Given the description of an element on the screen output the (x, y) to click on. 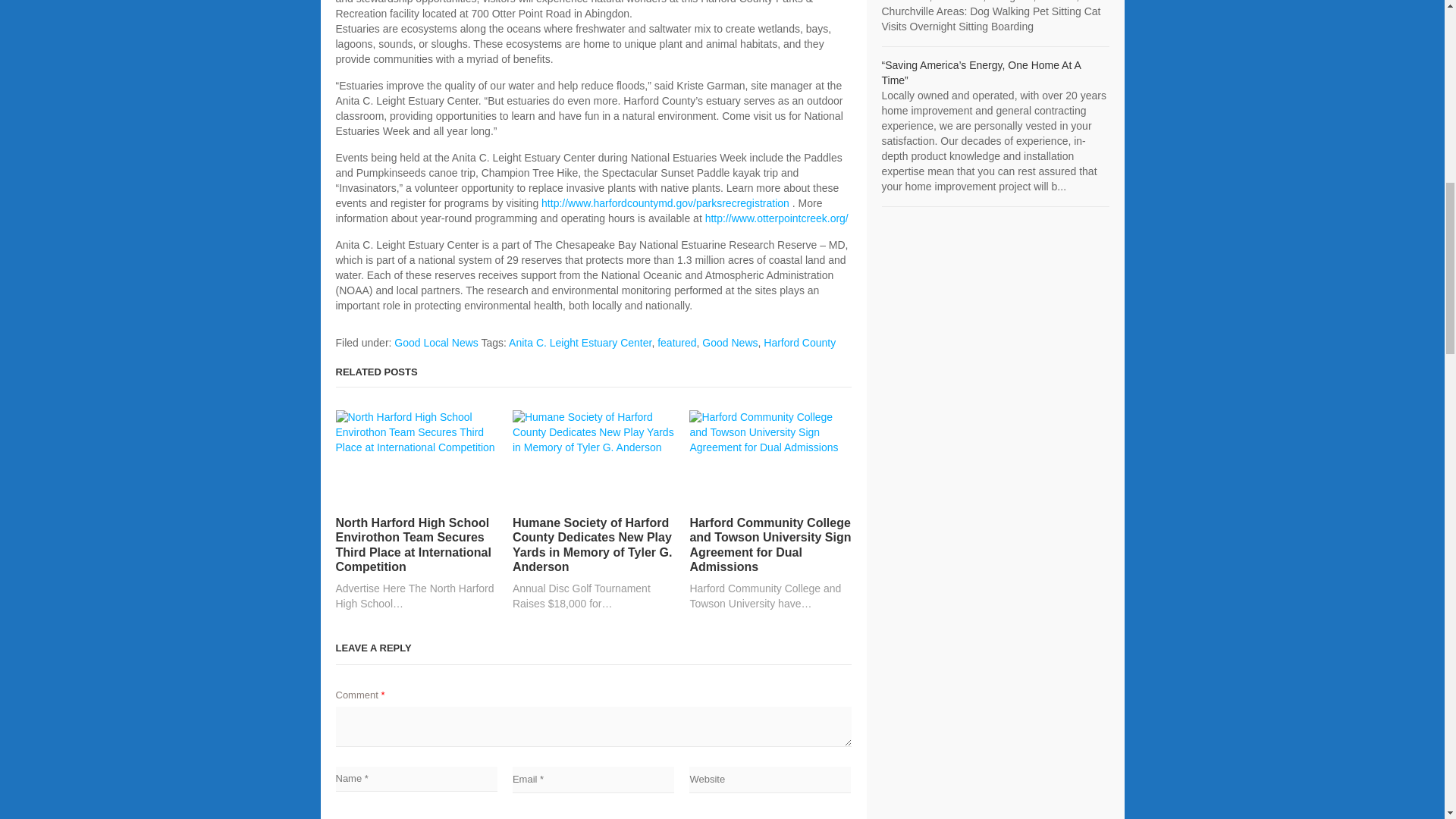
featured (676, 342)
Harford County (798, 342)
3rd party ad content (994, 536)
Good News (729, 342)
Anita C. Leight Estuary Center (579, 342)
Window Depot of Baltimore (980, 72)
Good Local News (436, 342)
